Given the description of an element on the screen output the (x, y) to click on. 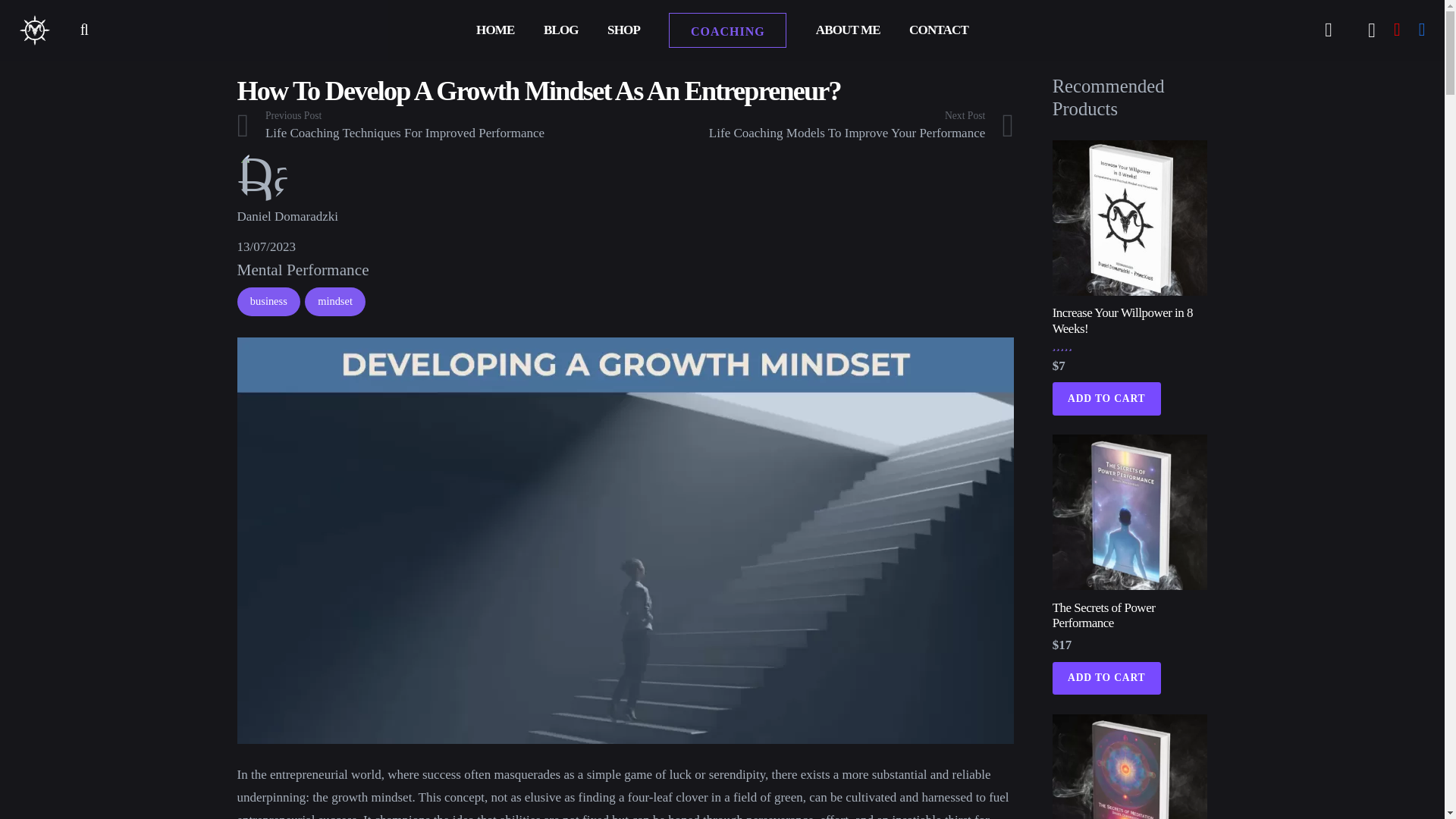
Daniel Domaradzki (624, 216)
COACHING (727, 30)
mindset (334, 301)
Life Coaching Techniques For Improved Performance (819, 125)
BLOG (429, 125)
Mental Performance (560, 30)
Life Coaching Models To Improve Your Performance (301, 270)
CONTACT (819, 125)
